Given the description of an element on the screen output the (x, y) to click on. 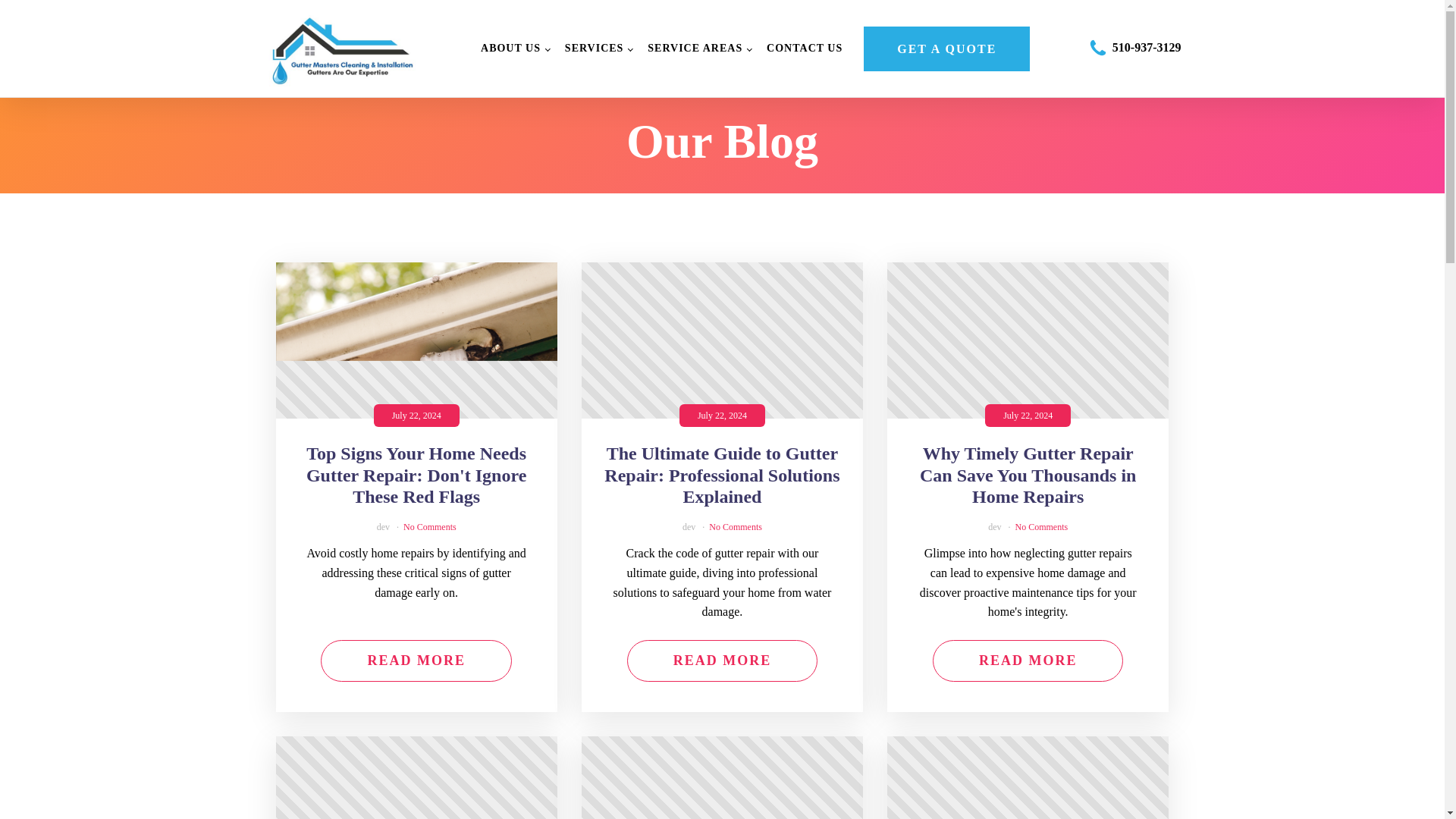
SERVICE AREAS (699, 48)
SERVICES (598, 48)
July 22, 2024 (721, 777)
CONTACT US (804, 48)
READ MORE (416, 660)
No Comments (735, 526)
ABOUT US (515, 48)
GET A QUOTE (946, 48)
